Given the description of an element on the screen output the (x, y) to click on. 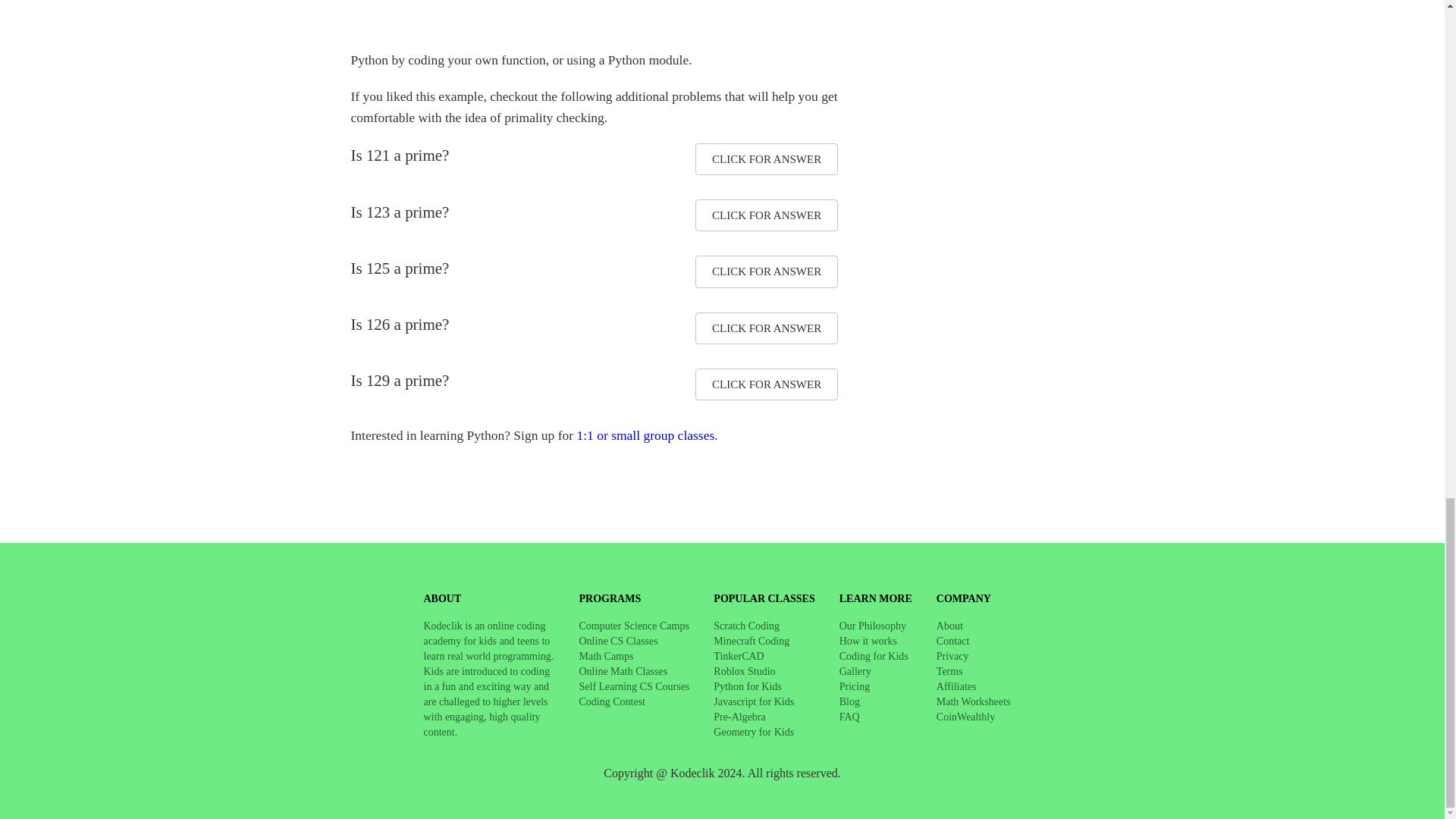
Coding Contest (612, 702)
Geometry for Kids (753, 732)
Coding for Kids (874, 656)
Blog (850, 702)
1:1 or small group classes (645, 435)
Math Camps (606, 656)
Privacy (952, 656)
CLICK FOR ANSWER (766, 384)
Affiliates (956, 686)
Python for Kids (746, 686)
